Given the description of an element on the screen output the (x, y) to click on. 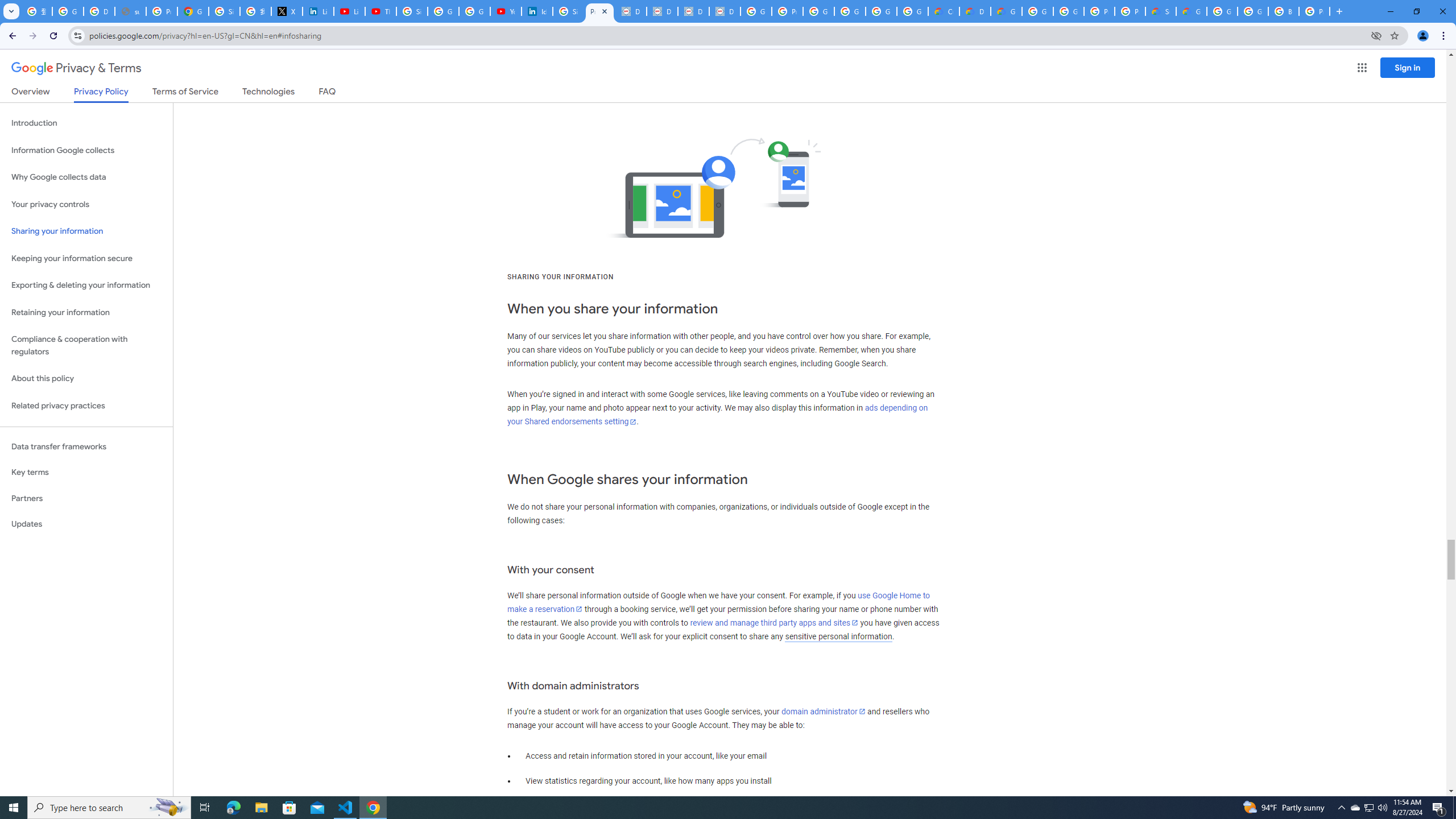
Data Privacy Framework (693, 11)
sensitive personal information (838, 636)
ads depending on your Shared endorsements setting (717, 414)
Google Cloud Service Health (1190, 11)
Google Cloud Platform (1037, 11)
